Given the description of an element on the screen output the (x, y) to click on. 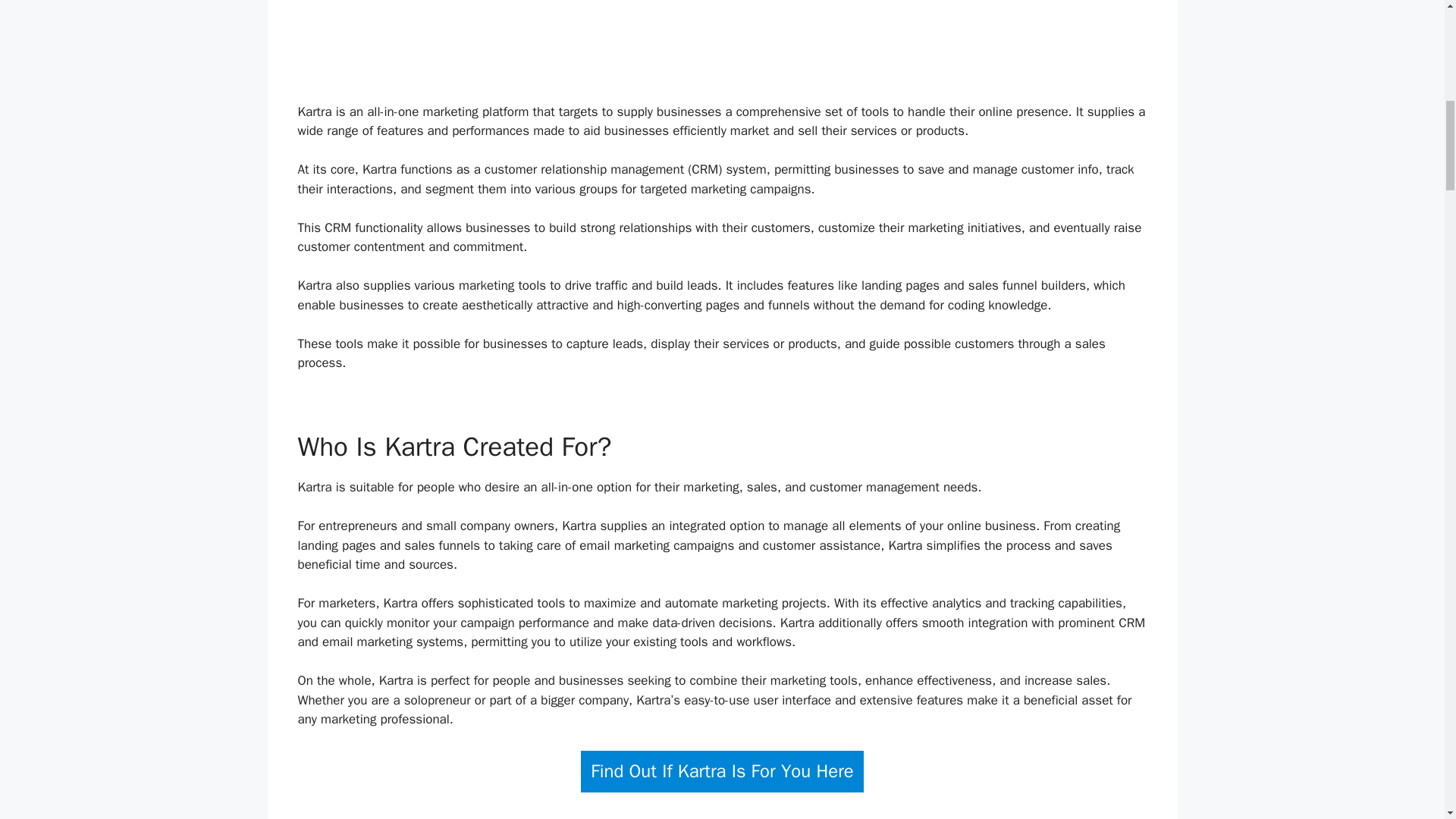
Find Out If Kartra Is For You Here (721, 771)
